Given the description of an element on the screen output the (x, y) to click on. 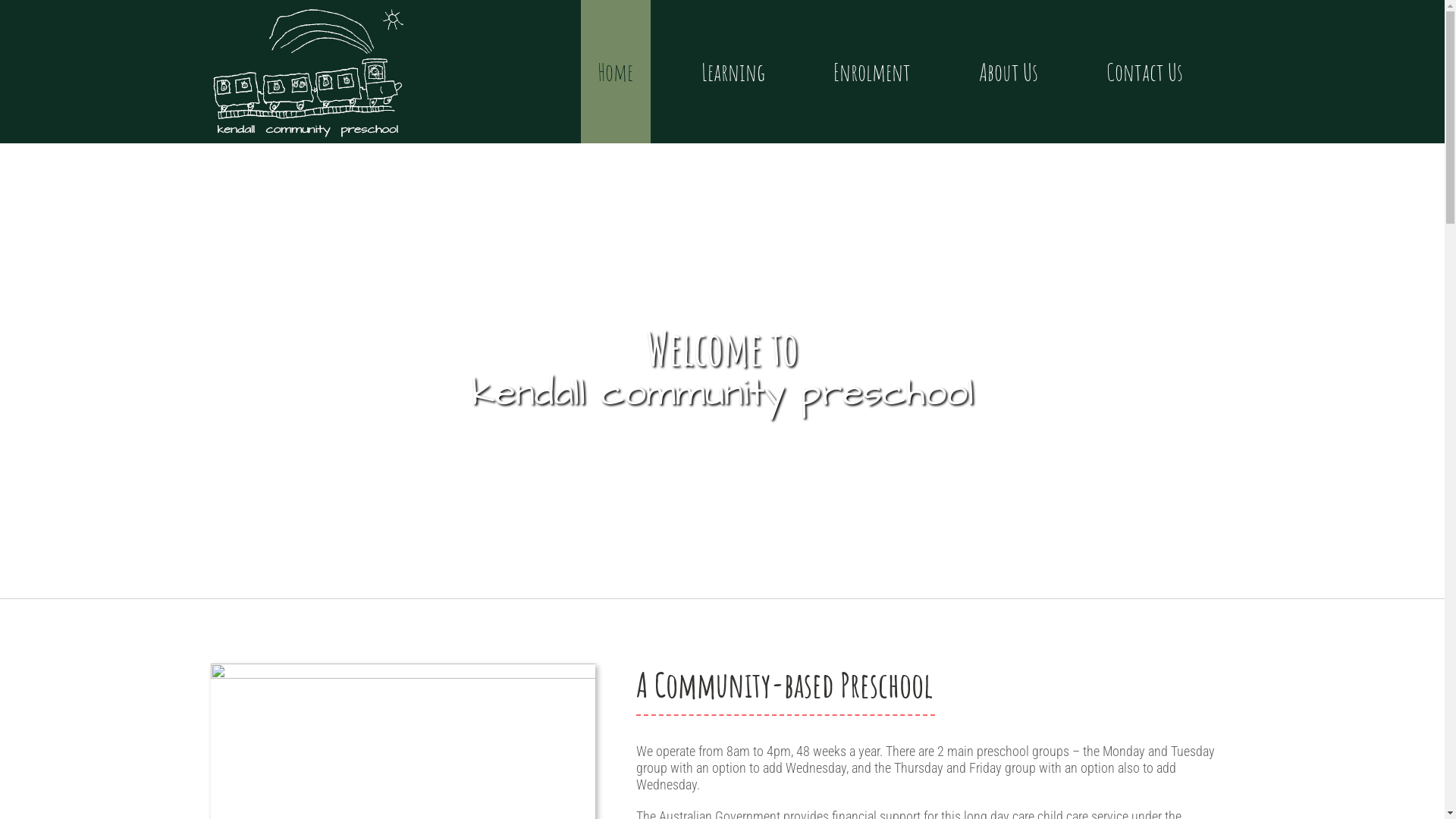
Contact Us Element type: text (1143, 71)
About Us Element type: text (1007, 71)
Home Element type: text (615, 71)
Learning Element type: text (732, 71)
Enrolment Element type: text (871, 71)
